Given the description of an element on the screen output the (x, y) to click on. 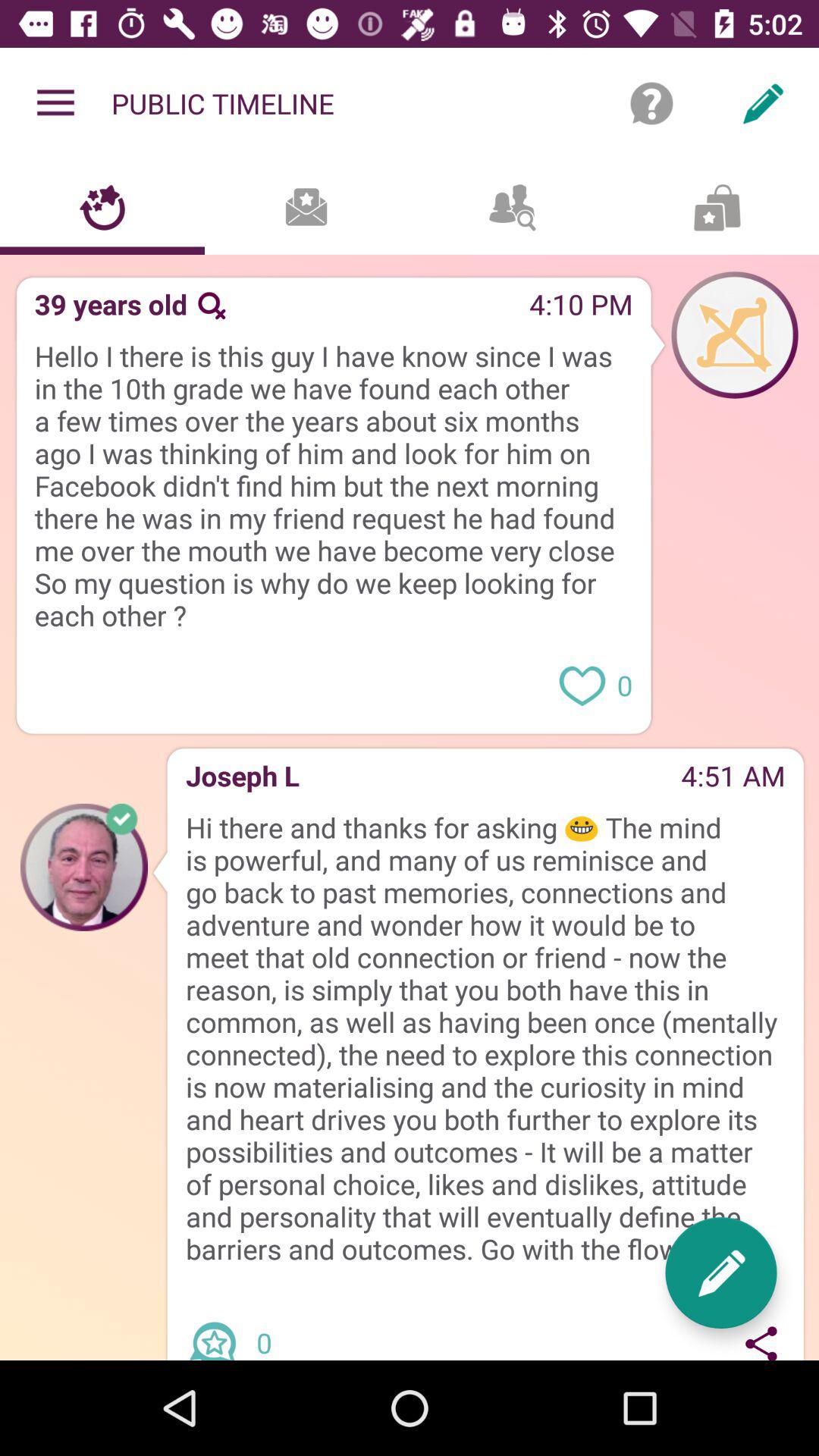
click icon below hi there and (761, 1340)
